Given the description of an element on the screen output the (x, y) to click on. 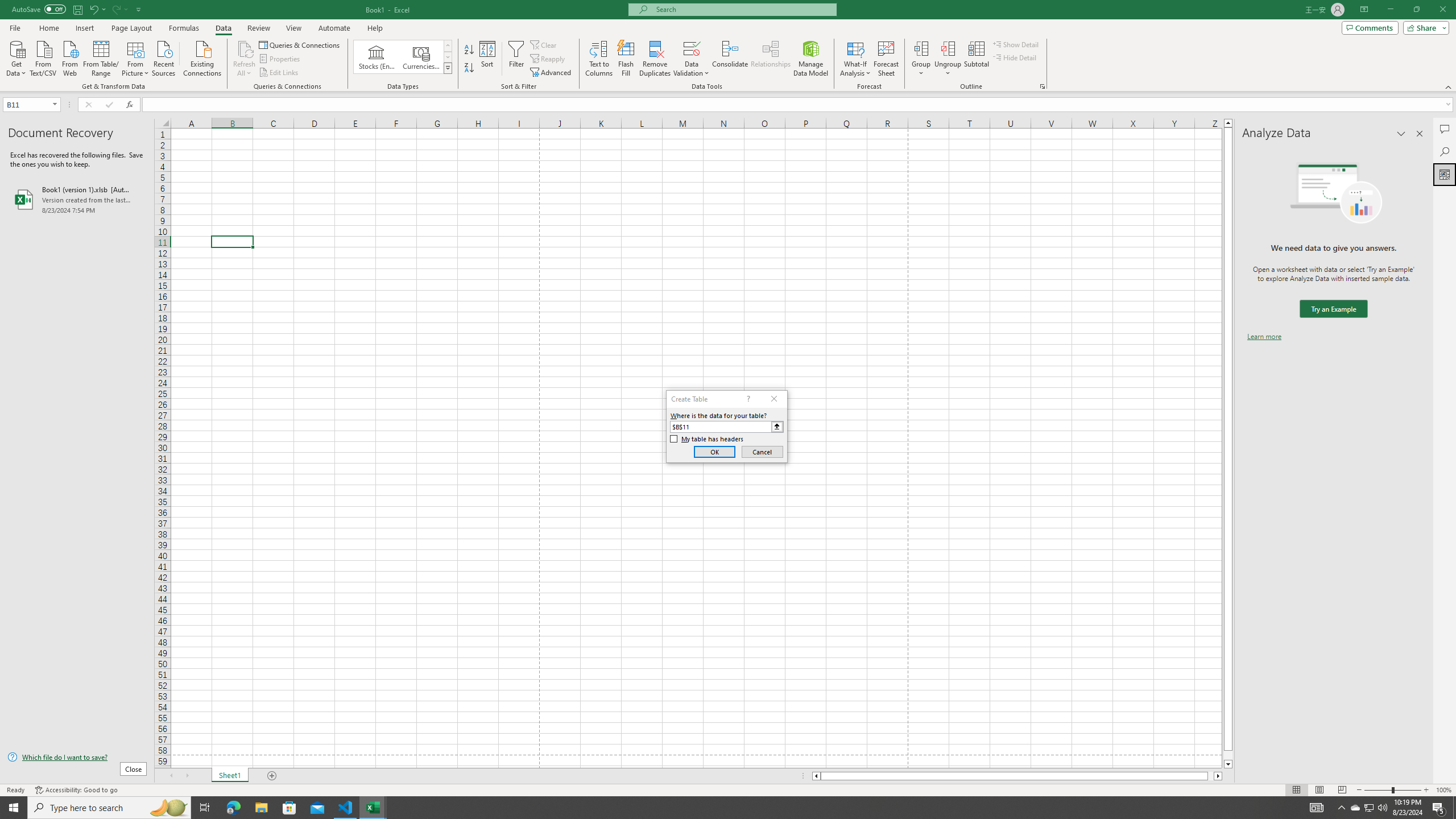
Sheet1 (229, 775)
Zoom Out (1377, 790)
Group... (921, 48)
Learn more (1264, 336)
Search (1444, 151)
Sort Z to A (469, 67)
Manage Data Model (810, 58)
Zoom In (1426, 790)
What-If Analysis (855, 58)
Clear (544, 44)
Subtotal (976, 58)
Sort A to Z (469, 49)
Restore Down (1416, 9)
